Given the description of an element on the screen output the (x, y) to click on. 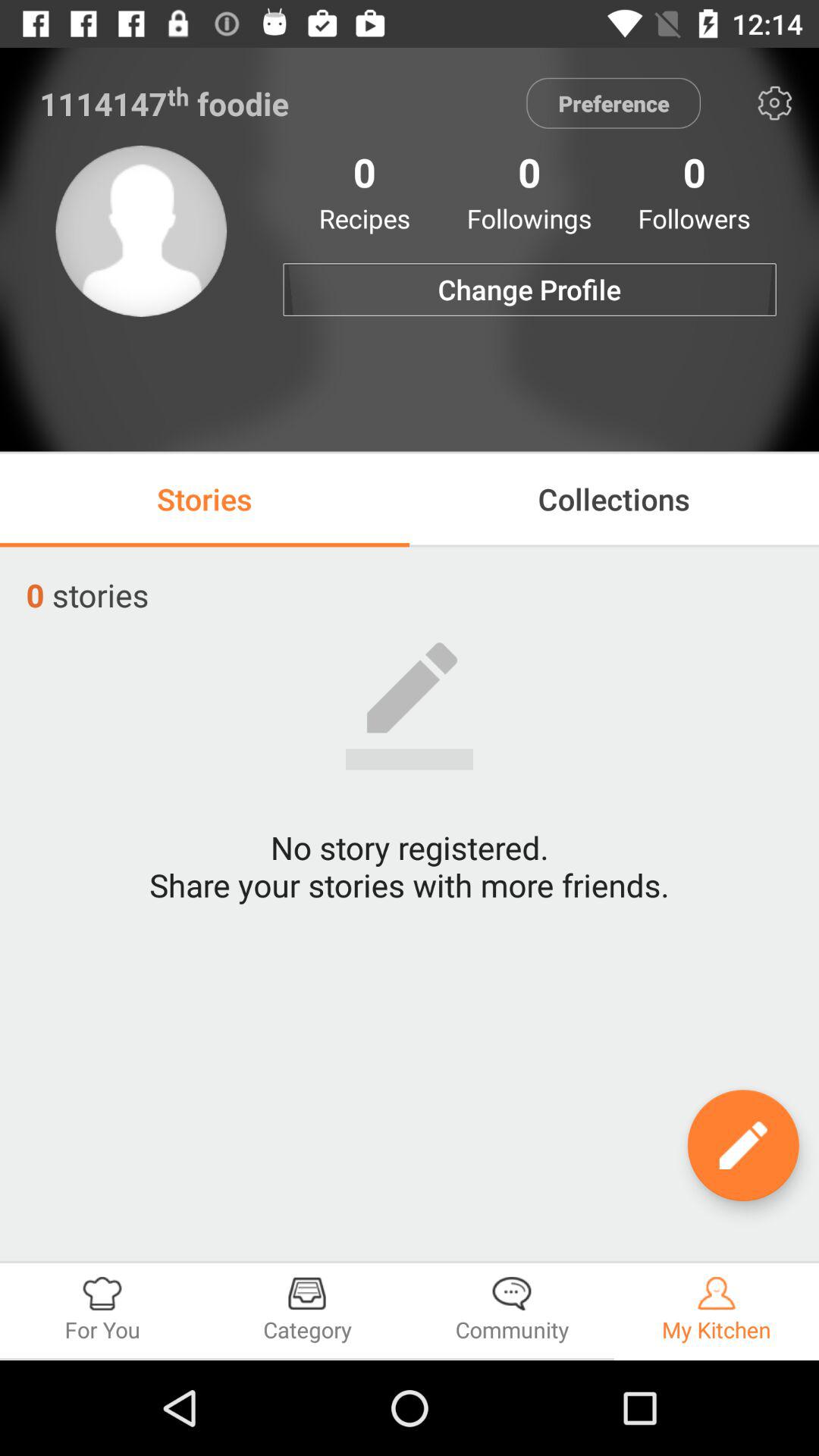
choose the change profile item (529, 289)
